Given the description of an element on the screen output the (x, y) to click on. 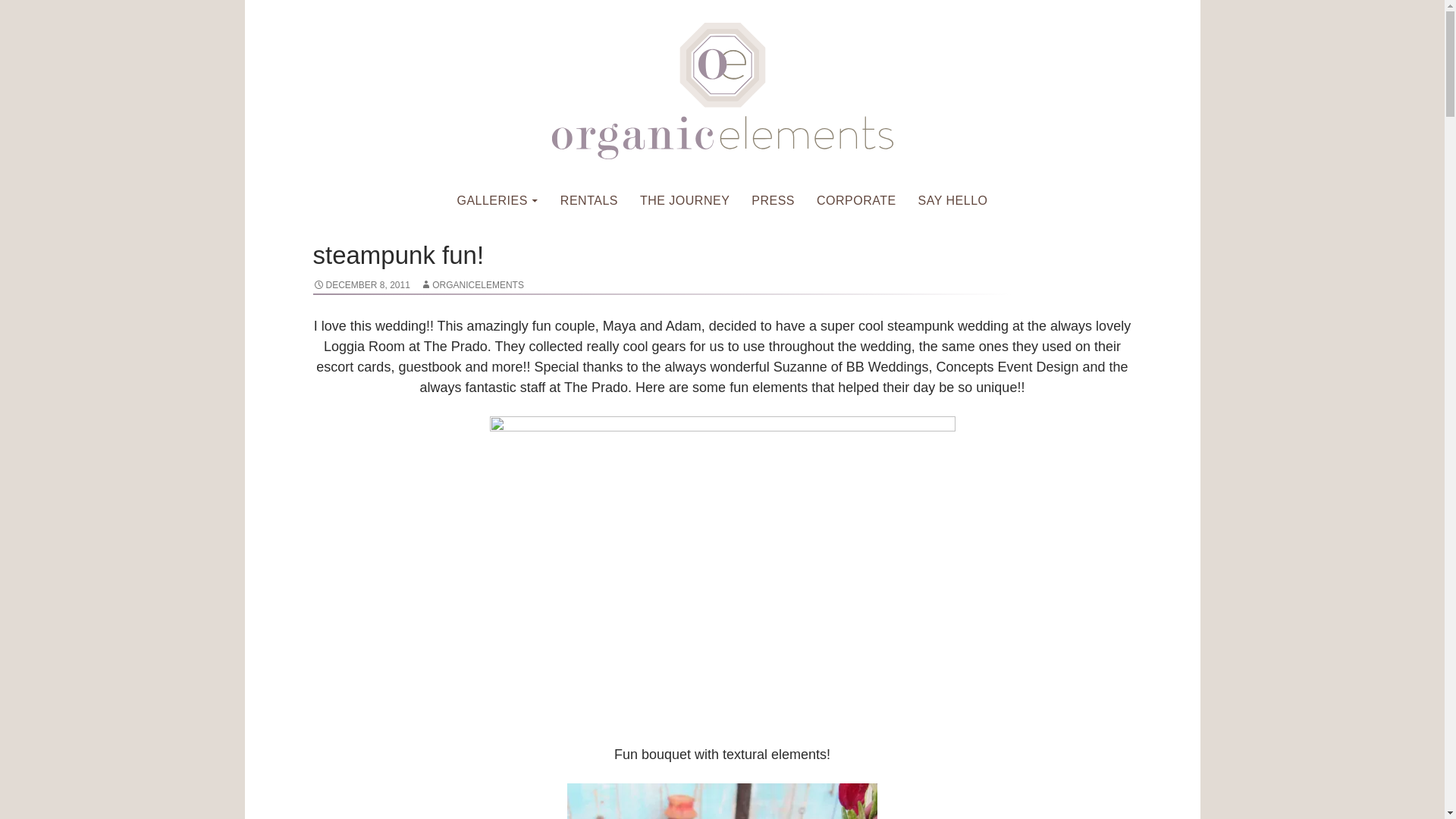
THE JOURNEY (684, 200)
CORPORATE (856, 200)
ORGANICELEMENTS (472, 285)
PRESS (772, 200)
GALLERIES (496, 200)
SAY HELLO (952, 200)
DECEMBER 8, 2011 (361, 285)
RENTALS (589, 200)
